Given the description of an element on the screen output the (x, y) to click on. 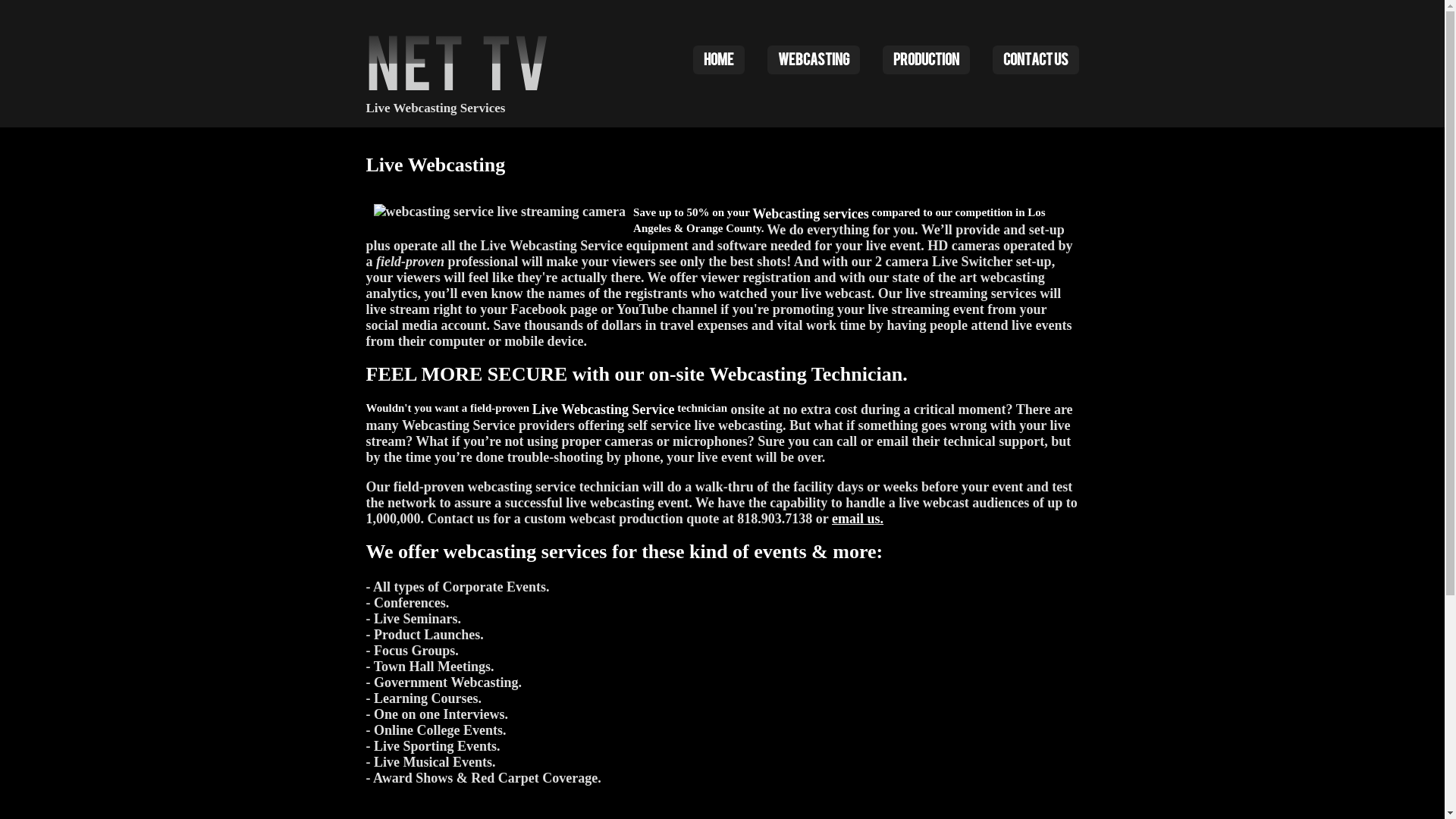
Webcasting Element type: text (813, 59)
Production Element type: text (925, 59)
Home Element type: text (718, 59)
Contact Us Element type: text (1034, 59)
email us. Element type: text (857, 518)
